Given the description of an element on the screen output the (x, y) to click on. 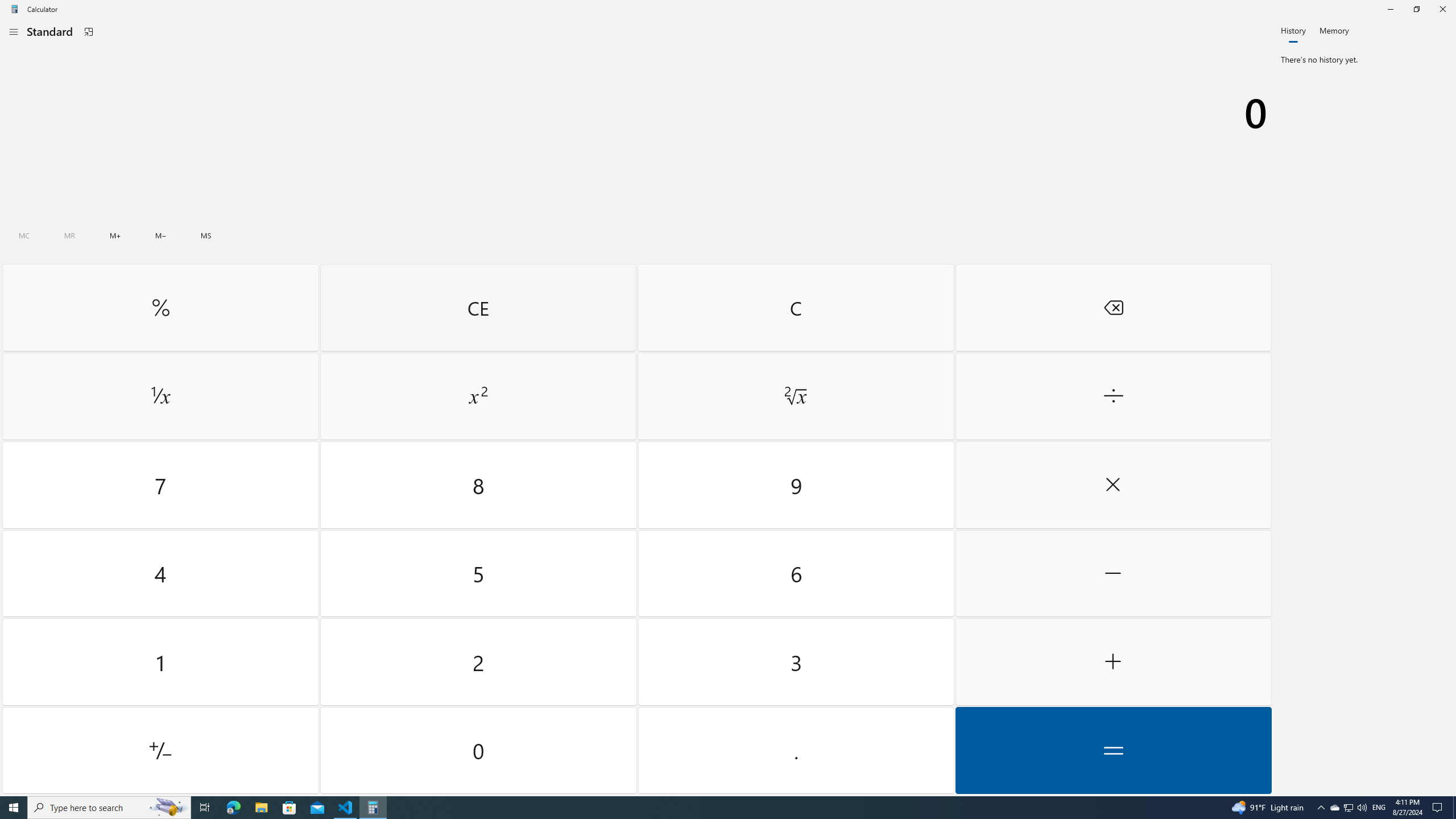
Zero (478, 749)
Minimize Calculator (1390, 9)
Percent (160, 307)
Equals (1113, 749)
Square root (795, 396)
Memory add (115, 235)
Reciprocal (160, 396)
Five (478, 572)
Divide by (1113, 396)
Nine (795, 485)
Calculator - 1 running window (373, 807)
